Given the description of an element on the screen output the (x, y) to click on. 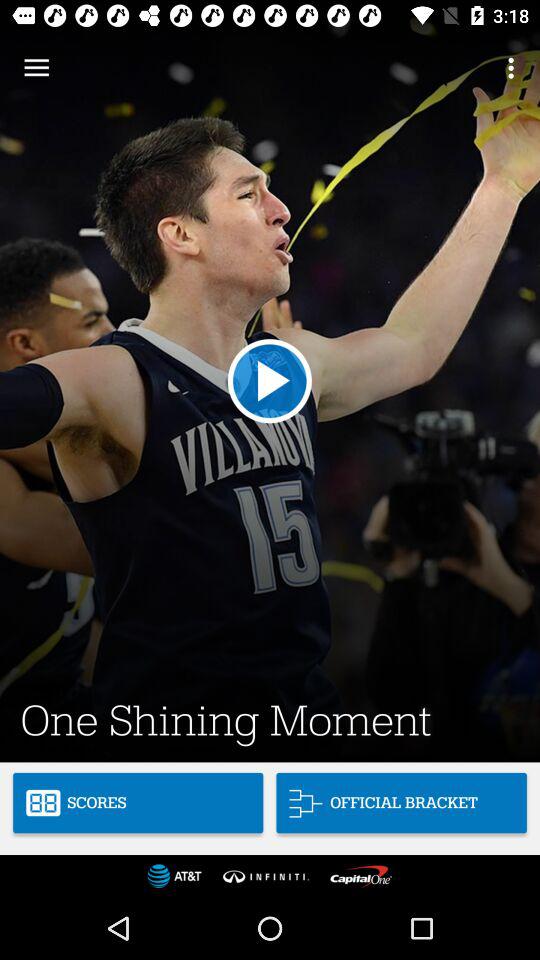
turn off item to the right of scores item (401, 802)
